Given the description of an element on the screen output the (x, y) to click on. 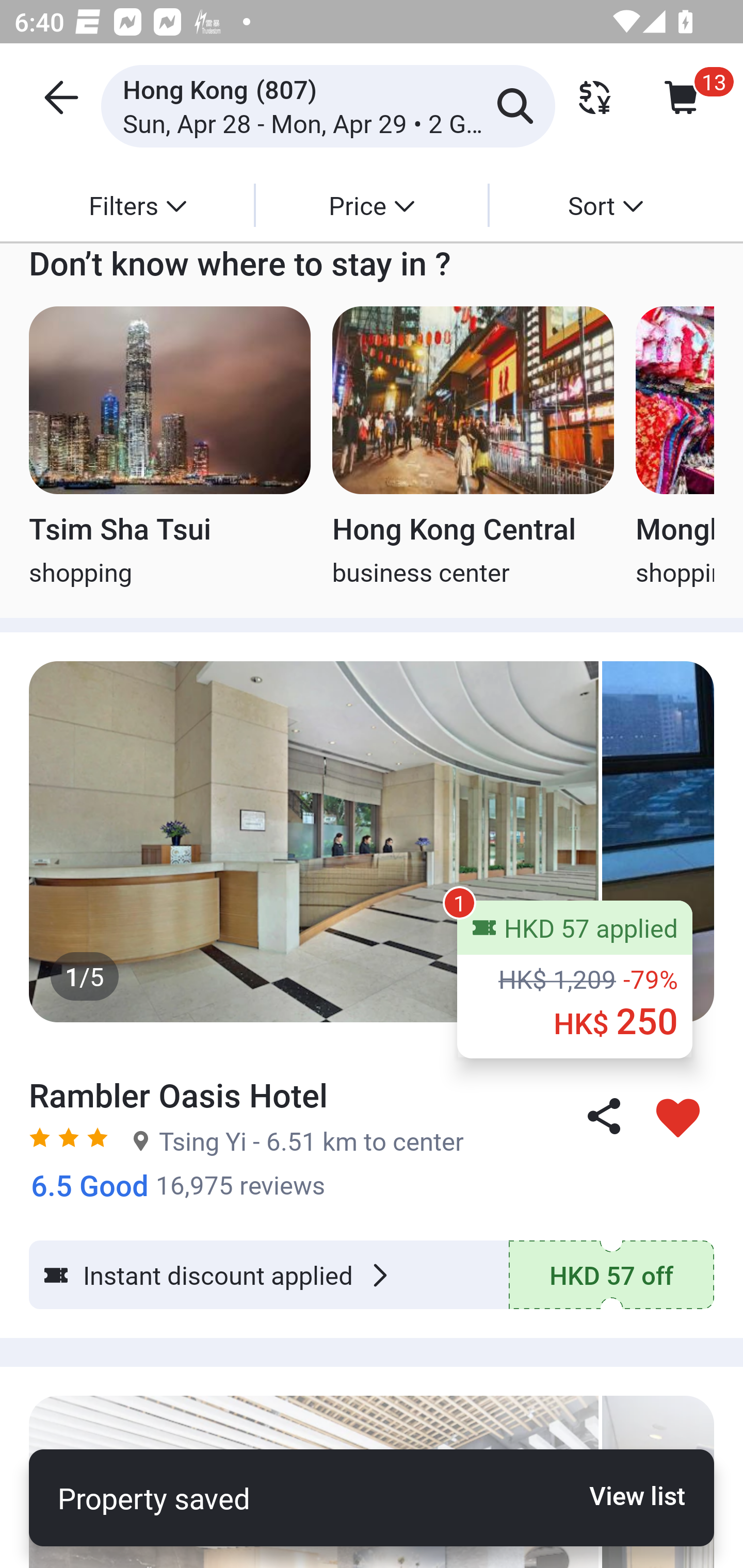
Filters (137, 205)
Price (371, 205)
Sort (605, 205)
Tsim Sha Tsui shopping (169, 447)
Hong Kong Central business center (472, 447)
1/5 (371, 841)
HKD 57 applied ‪HK$ 1,209 -79% ‪HK$ 250 1 (574, 979)
Instant discount applied HKD 57 off (371, 1275)
View list (626, 1494)
